Given the description of an element on the screen output the (x, y) to click on. 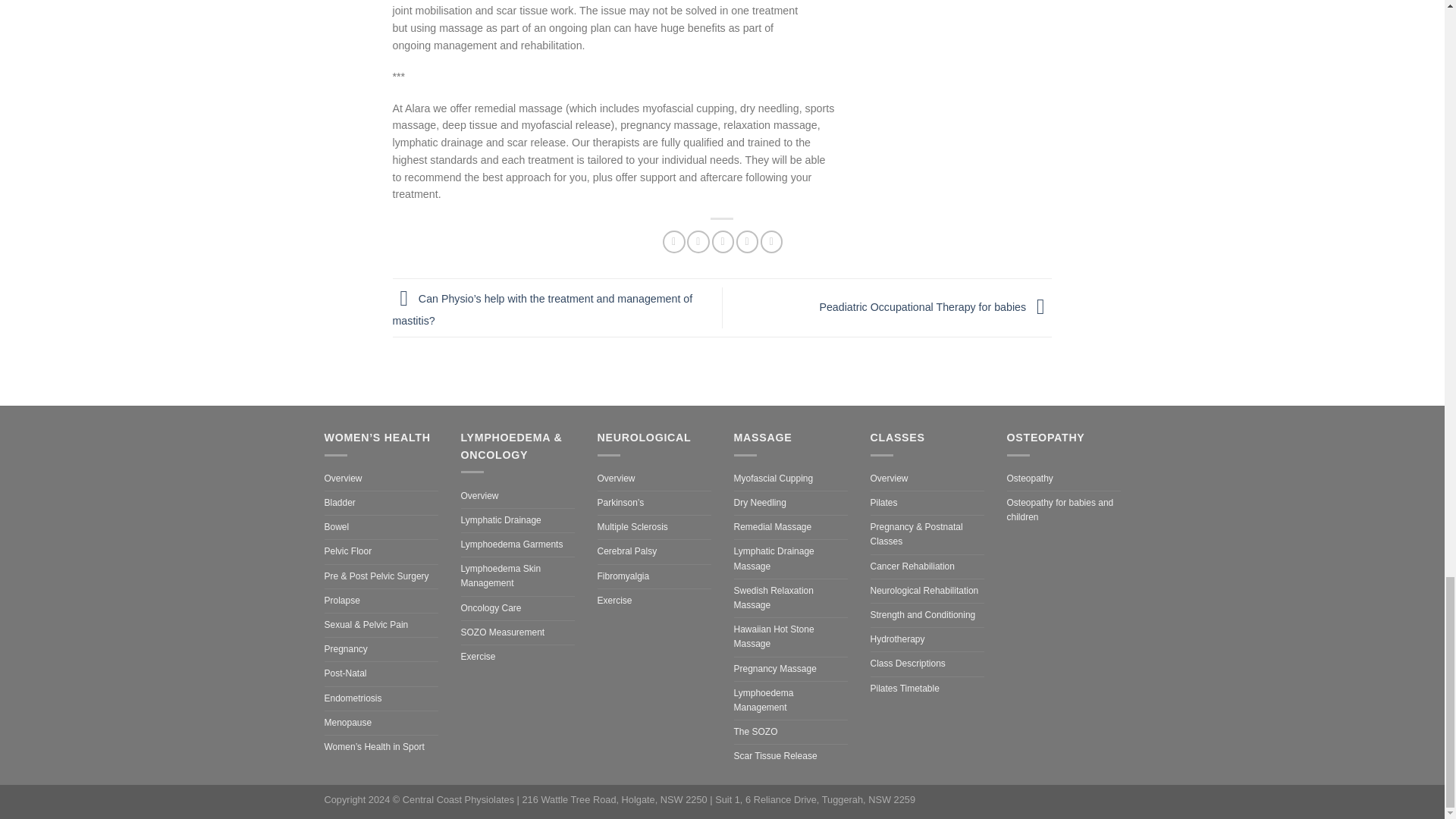
Pin on Pinterest (747, 241)
Share on LinkedIn (771, 241)
Share on Twitter (698, 241)
Share on Facebook (673, 241)
Email to a Friend (722, 241)
